Given the description of an element on the screen output the (x, y) to click on. 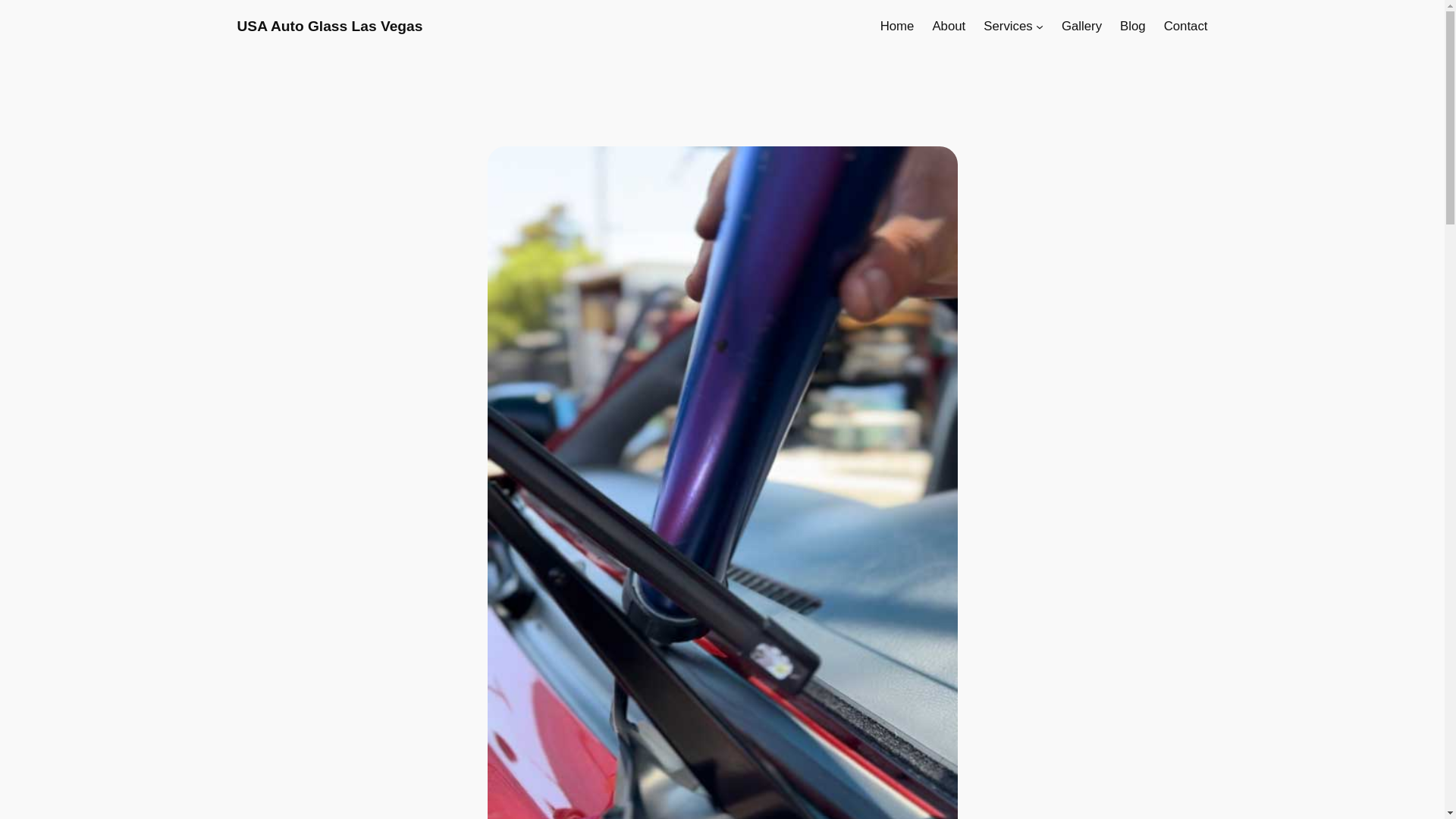
Blog (1132, 26)
Home (897, 26)
Services (1008, 26)
Gallery (1081, 26)
USA Auto Glass Las Vegas (328, 26)
Contact (1185, 26)
About (948, 26)
